Given the description of an element on the screen output the (x, y) to click on. 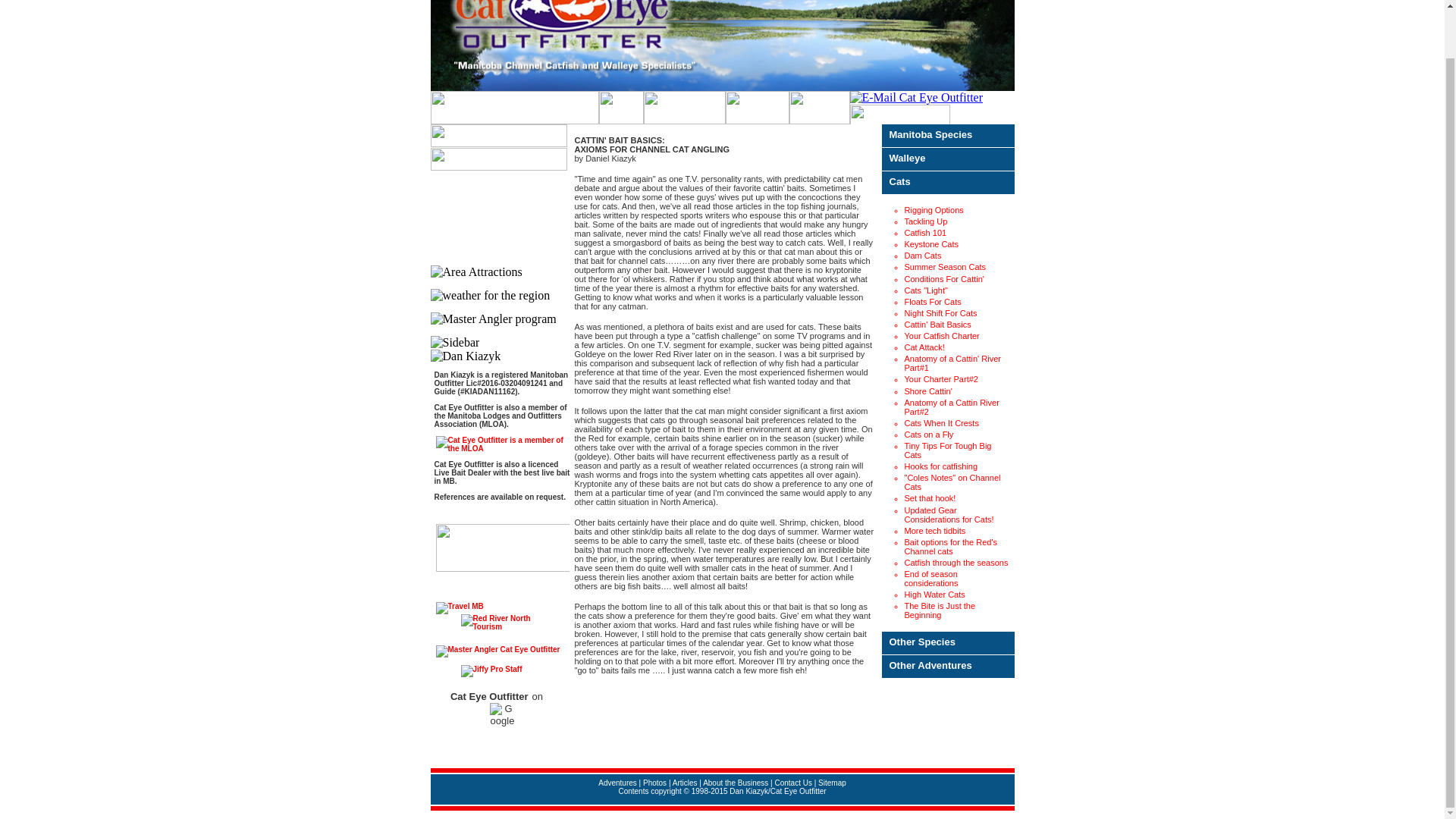
Articles (757, 108)
Cat Eye Outfitter (722, 45)
Email Us (915, 97)
Photos (818, 108)
Adventures (684, 108)
Cat Eye Outfitter (620, 108)
